Given the description of an element on the screen output the (x, y) to click on. 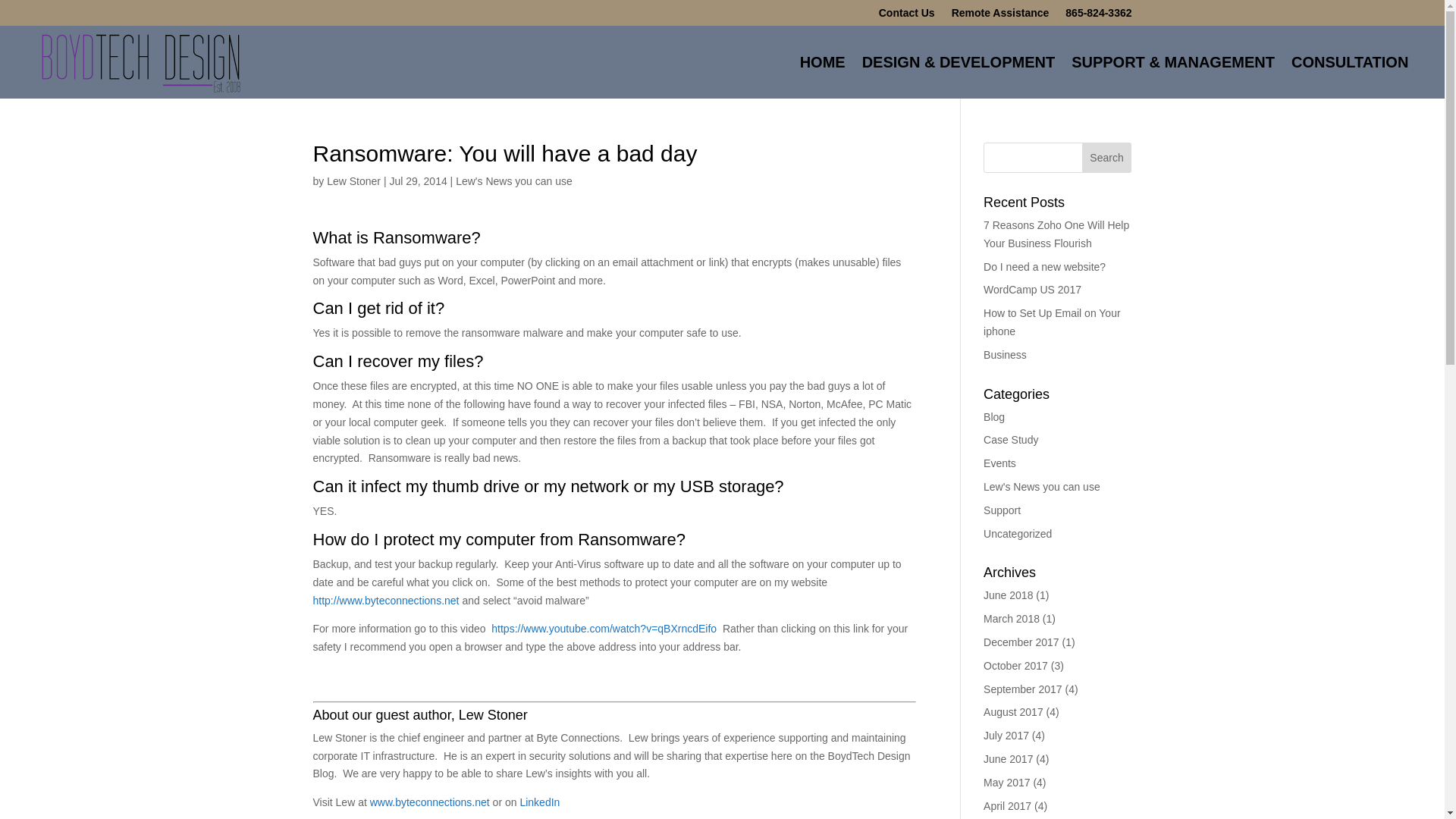
August 2017 (1013, 711)
865-824-3362 (1098, 15)
July 2017 (1006, 735)
Lew's News you can use (513, 181)
September 2017 (1023, 689)
www.byteconnections.net (431, 802)
Contact Us (906, 15)
Business (1005, 354)
7 Reasons Zoho One Will Help Your Business Flourish (1056, 234)
Uncategorized (1017, 533)
